Given the description of an element on the screen output the (x, y) to click on. 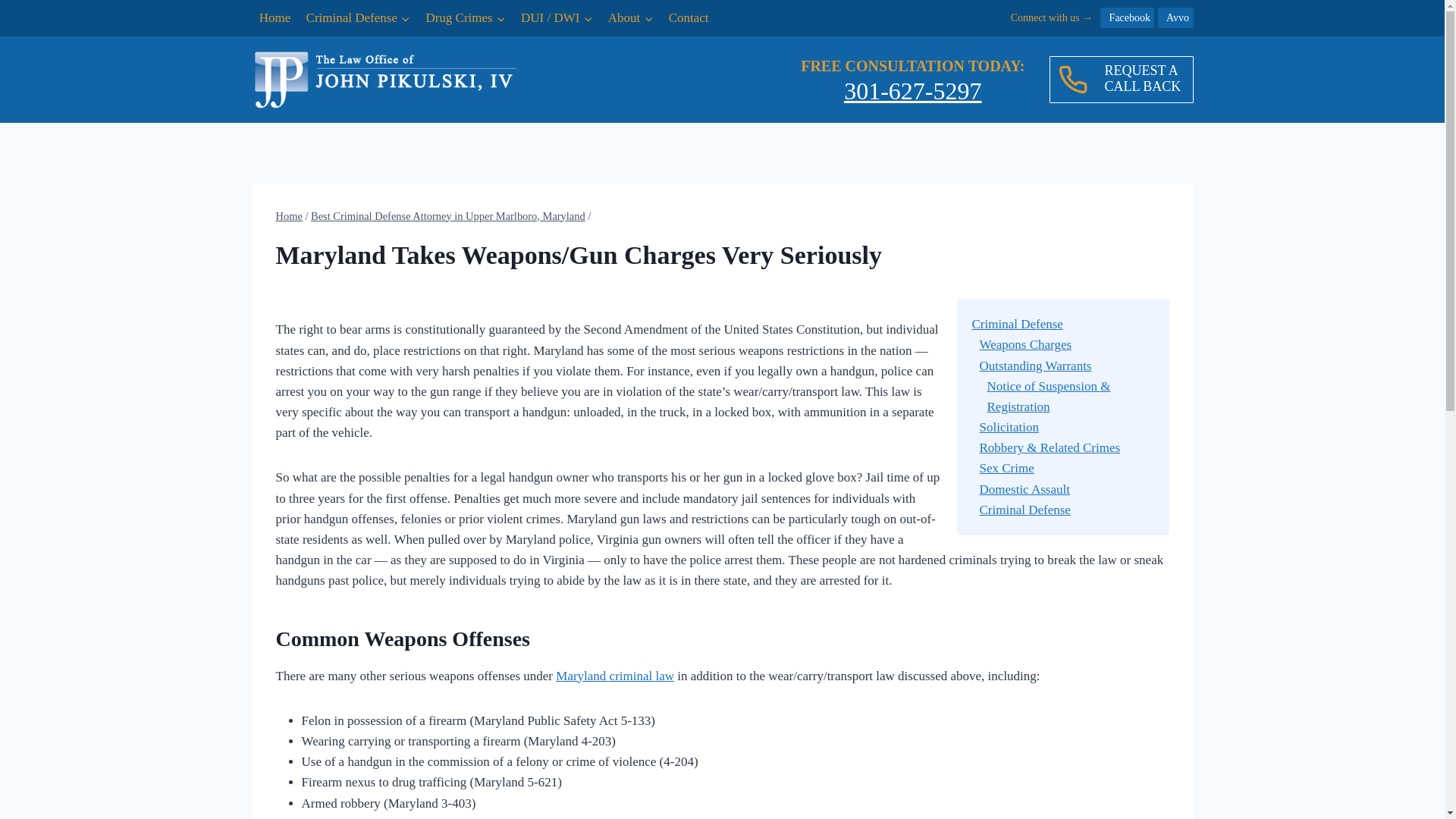
Home (274, 18)
Contact (688, 18)
Facebook (1127, 17)
Best Criminal Defense Attorney in Upper Marlboro, Maryland (448, 215)
Outstanding Warrants (1035, 364)
Solicitation (1009, 427)
Home (289, 215)
301-627-5297 (912, 90)
REQUEST A CALL BACK (1121, 79)
Criminal Defense (357, 18)
